Given the description of an element on the screen output the (x, y) to click on. 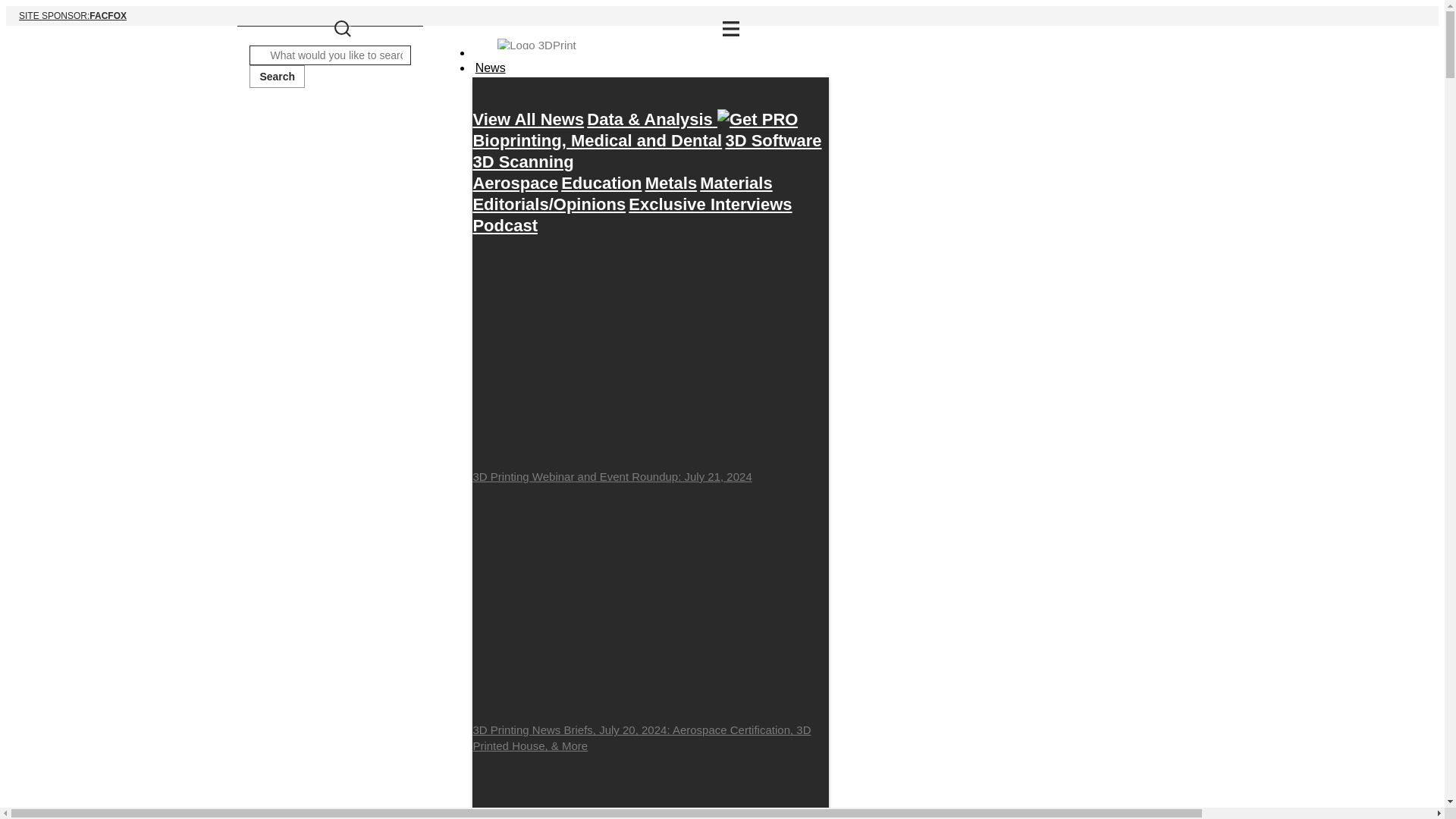
Podcast (504, 225)
Exclusive Interviews (721, 15)
3D Printing Webinar and Event Roundup: July 21, 2024 (710, 204)
News (649, 360)
Aerospace (488, 67)
Education (514, 182)
Search (601, 182)
3D Software (276, 76)
3D Scanning (773, 140)
Materials (522, 161)
Metals (735, 182)
View All News (671, 182)
Bioprinting, Medical and Dental (527, 119)
